Given the description of an element on the screen output the (x, y) to click on. 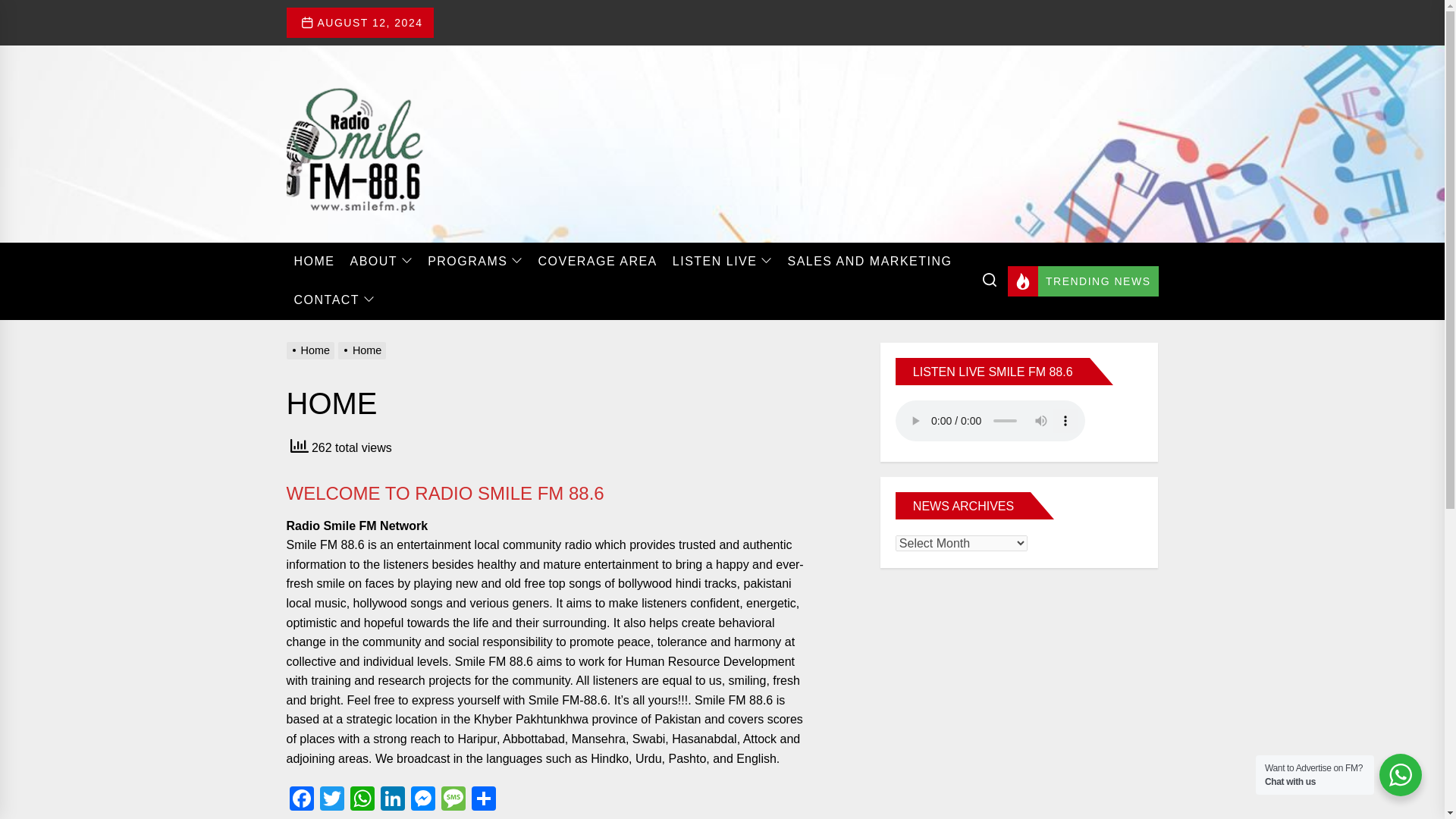
Message (453, 800)
TRENDING NEWS (1082, 281)
SALES AND MARKETING (869, 261)
Facebook (301, 800)
PROGRAMS (475, 261)
HOME (314, 261)
Twitter (332, 800)
COVERAGE AREA (596, 261)
LinkedIn (392, 800)
Facebook (301, 800)
